Given the description of an element on the screen output the (x, y) to click on. 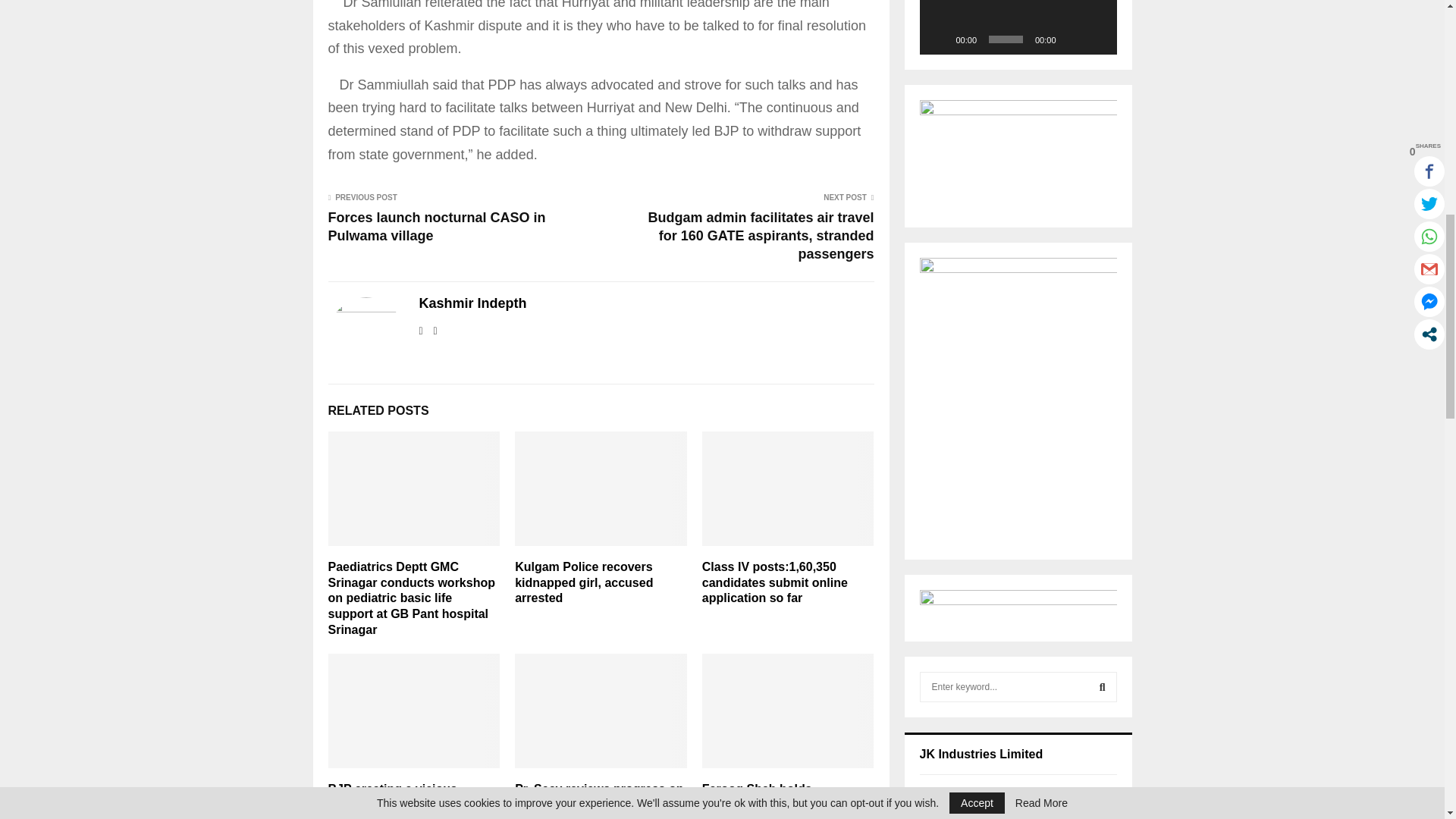
Posts by Kashmir Indepth (472, 303)
Mute (1072, 38)
Fullscreen (1096, 38)
Play (938, 38)
Forces launch nocturnal CASO in Pulwama village (435, 226)
